Given the description of an element on the screen output the (x, y) to click on. 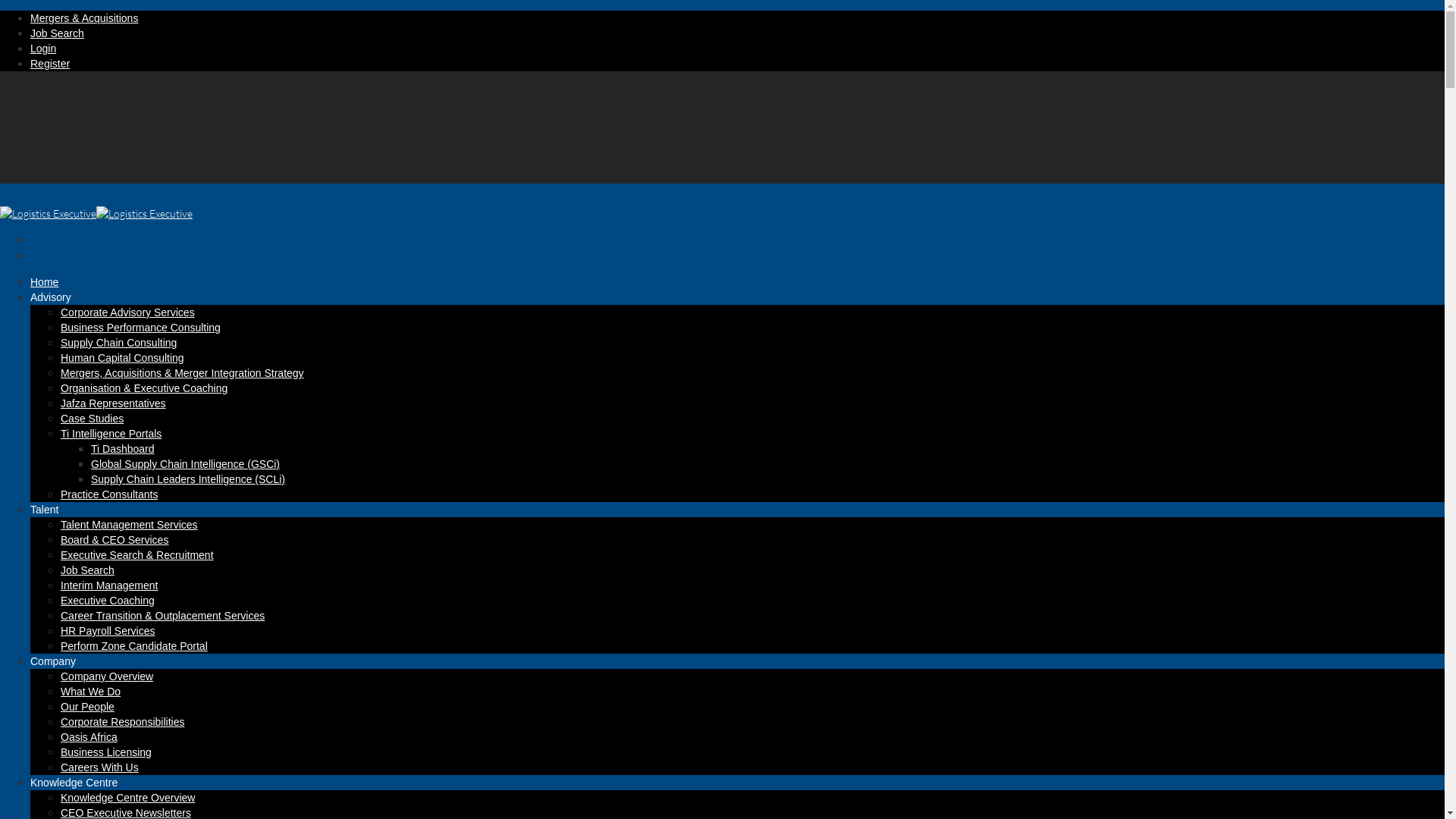
What We Do Element type: text (90, 691)
Company Element type: text (52, 672)
Career Transition & Outplacement Services Element type: text (162, 615)
Ti Dashboard Element type: text (122, 448)
Executive Coaching Element type: text (107, 600)
Job Search Element type: text (57, 33)
Job Search Element type: text (87, 570)
Human Capital Consulting Element type: text (122, 357)
Global Supply Chain Intelligence (GSCi) Element type: text (185, 464)
Home Element type: text (44, 293)
Supply Chain Leaders Intelligence (SCLi) Element type: text (188, 479)
Business Performance Consulting Element type: text (140, 327)
Mergers, Acquisitions & Merger Integration Strategy Element type: text (182, 373)
Case Studies Element type: text (91, 418)
Careers With Us Element type: text (99, 767)
Talent Element type: text (44, 520)
Register Element type: text (49, 63)
Advisory Element type: text (50, 308)
Corporate Responsibilities Element type: text (122, 721)
Jafza Representatives Element type: text (113, 403)
Business Licensing Element type: text (105, 752)
Oasis Africa Element type: text (88, 737)
Our People Element type: text (87, 706)
Corporate Advisory Services Element type: text (127, 312)
Supply Chain Consulting Element type: text (118, 342)
Executive Search & Recruitment Element type: text (136, 555)
Interim Management Element type: text (108, 585)
Practice Consultants Element type: text (108, 494)
Company Overview Element type: text (106, 676)
Perform Zone Candidate Portal Element type: text (133, 646)
Login Element type: text (43, 48)
Talent Management Services Element type: text (128, 524)
Ti Intelligence Portals Element type: text (110, 433)
Board & CEO Services Element type: text (114, 539)
Mergers & Acquisitions Element type: text (84, 18)
Knowledge Centre Overview Element type: text (127, 797)
HR Payroll Services Element type: text (107, 630)
Organisation & Executive Coaching Element type: text (143, 388)
